Given the description of an element on the screen output the (x, y) to click on. 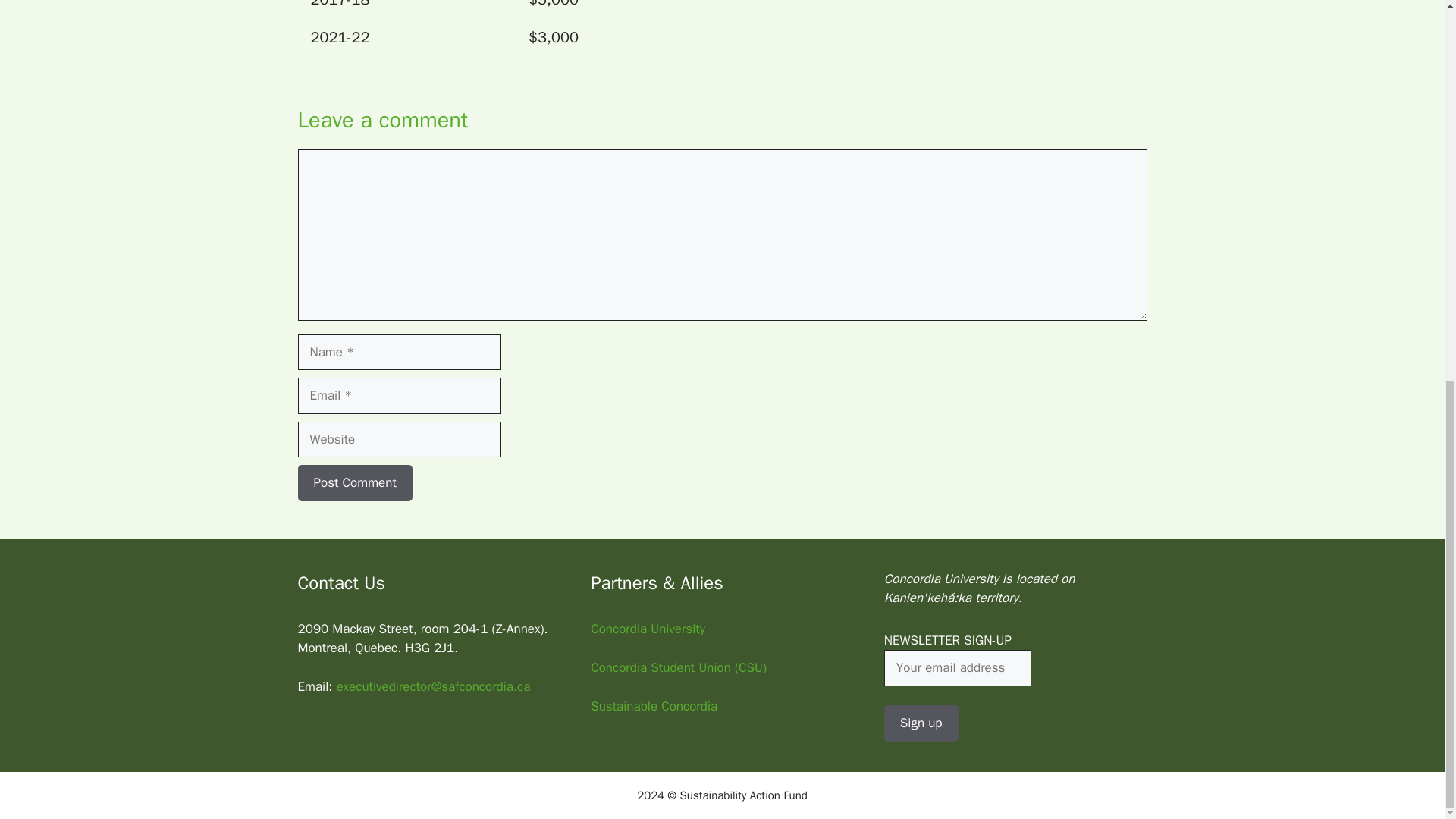
Post Comment (354, 483)
Sign up (920, 723)
Post Comment (354, 483)
Concordia University (647, 628)
